Given the description of an element on the screen output the (x, y) to click on. 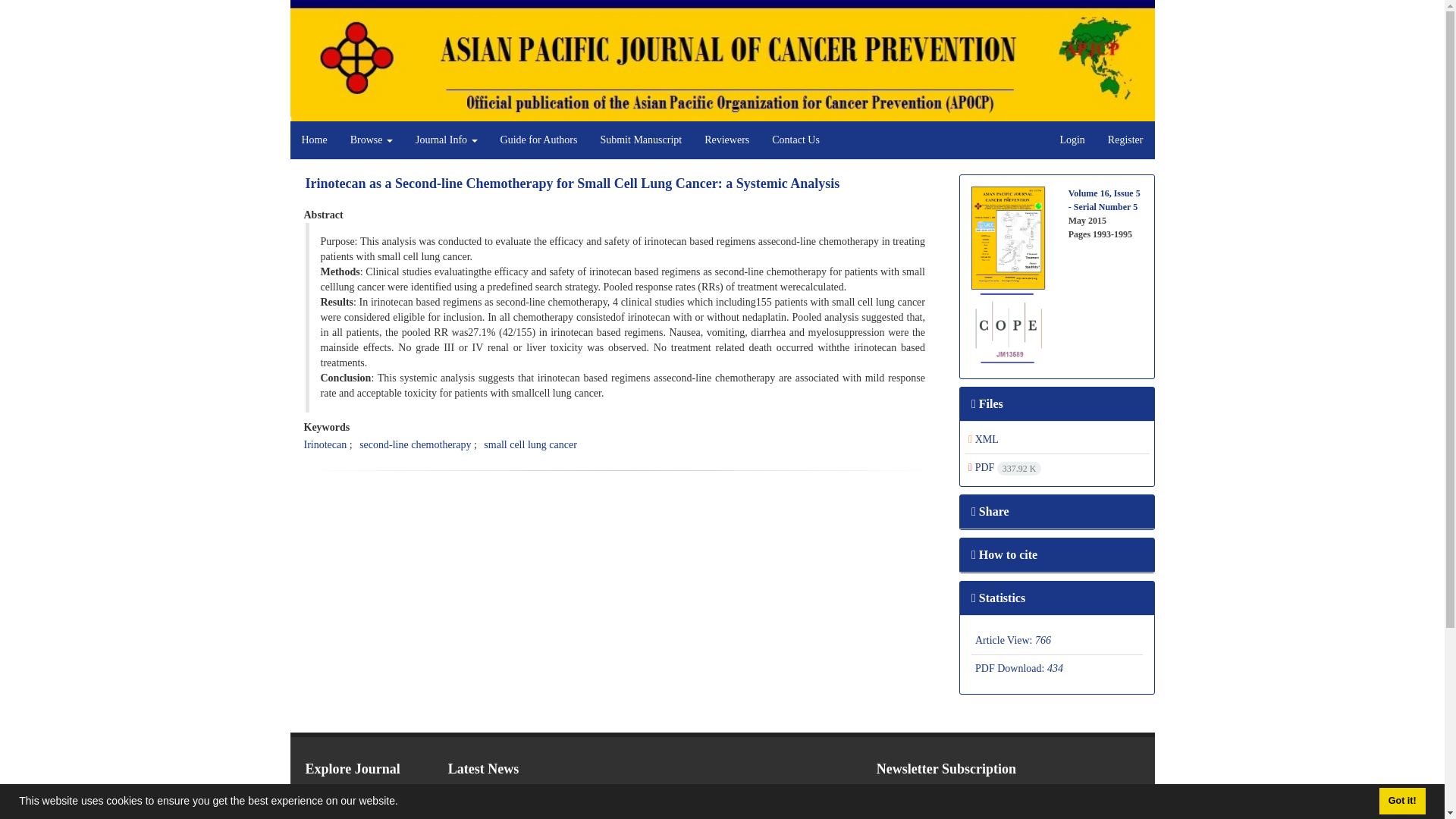
Reviewers (726, 139)
Browse (371, 139)
Irinotecan (324, 444)
Home (313, 139)
Submit Manuscript (640, 139)
Guide for Authors (539, 139)
small cell lung cancer (529, 444)
XML (983, 439)
Got it! (1401, 800)
Volume 16, Issue 5 - Serial Number 5 (1104, 200)
